Given the description of an element on the screen output the (x, y) to click on. 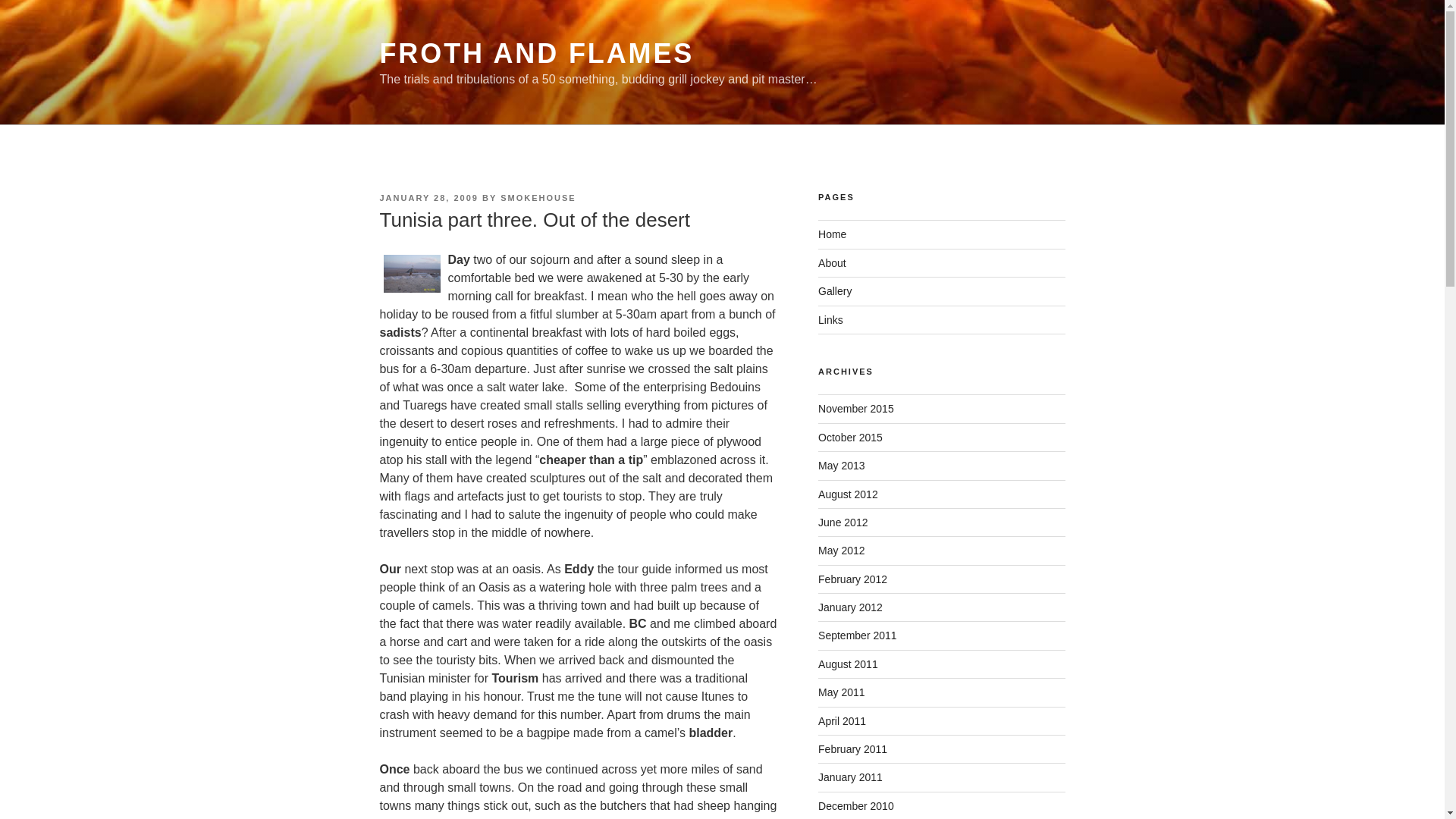
SMOKEHOUSE (537, 197)
Gallery (834, 291)
January 2011 (850, 776)
November 2015 (855, 408)
February 2011 (852, 748)
August 2012 (847, 494)
May 2013 (841, 465)
January 2012 (850, 607)
April 2011 (842, 720)
Home (831, 234)
Links (830, 319)
August 2011 (847, 664)
May 2012 (841, 550)
May 2011 (841, 692)
June 2012 (842, 522)
